Given the description of an element on the screen output the (x, y) to click on. 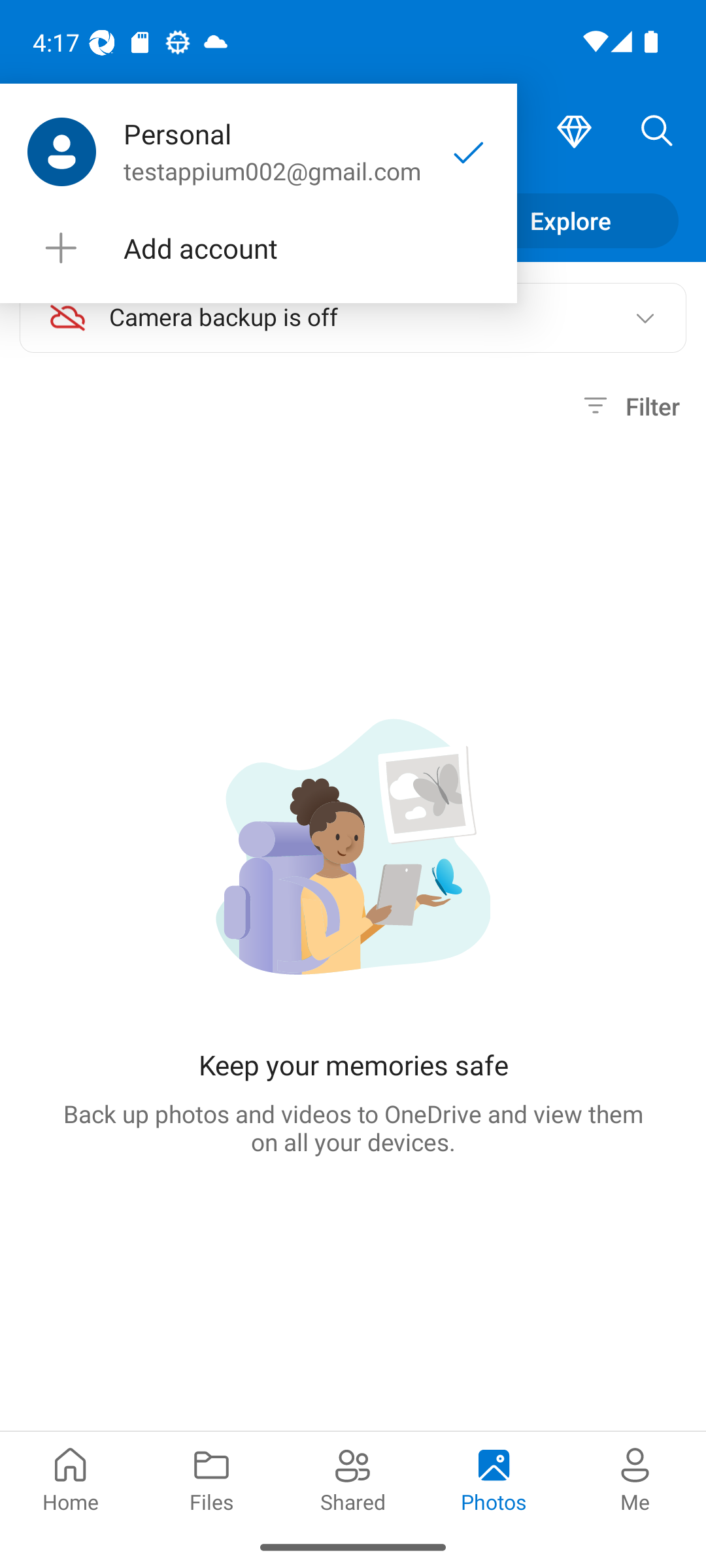
Personal testappium002@gmail.com Checked (258, 151)
Checked (468, 151)
Add account button Add account (258, 248)
